Given the description of an element on the screen output the (x, y) to click on. 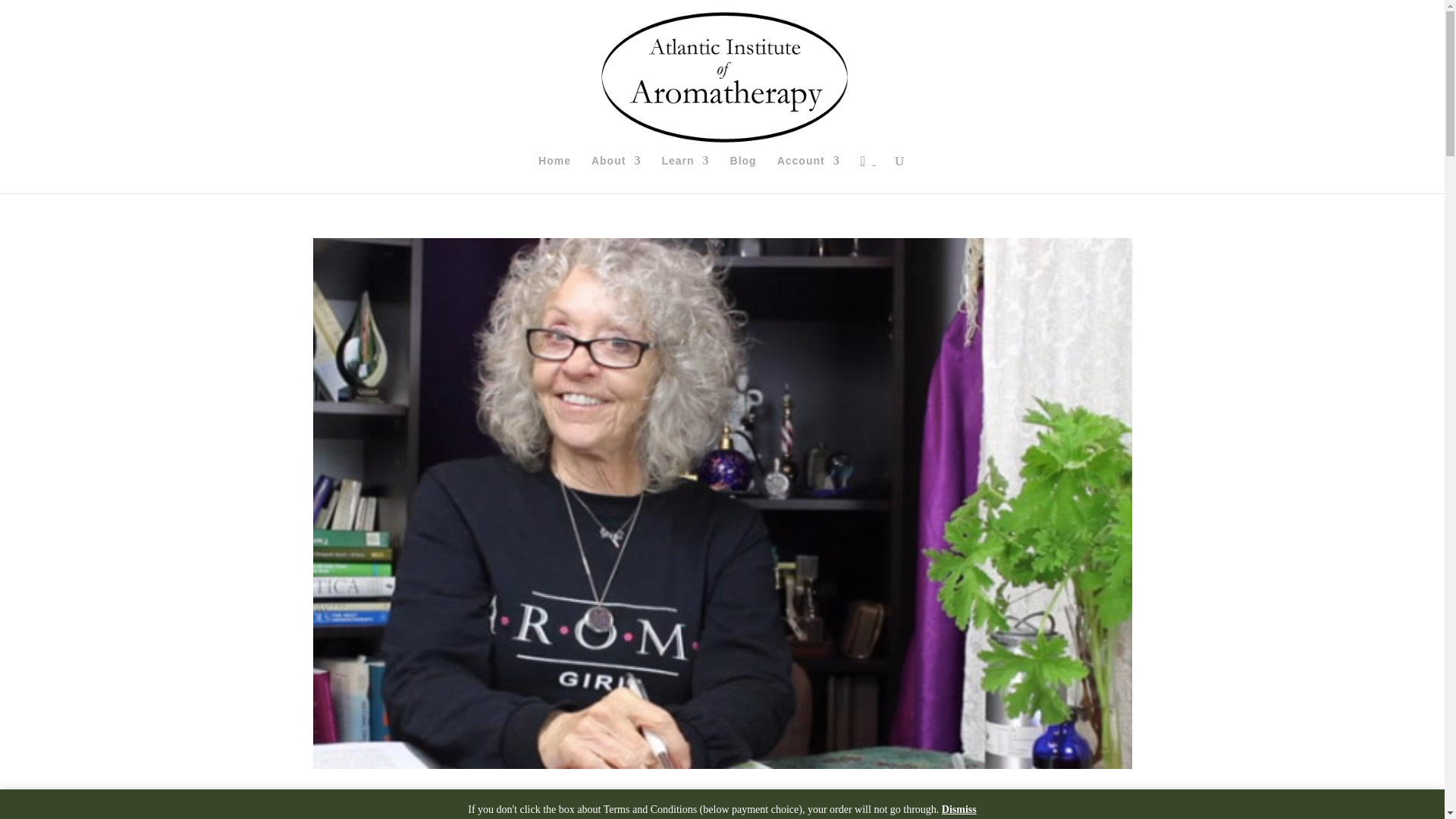
Account (808, 174)
Home (554, 174)
About (615, 174)
Geranium Exploration (423, 801)
Blog (743, 174)
Learn (685, 174)
